Given the description of an element on the screen output the (x, y) to click on. 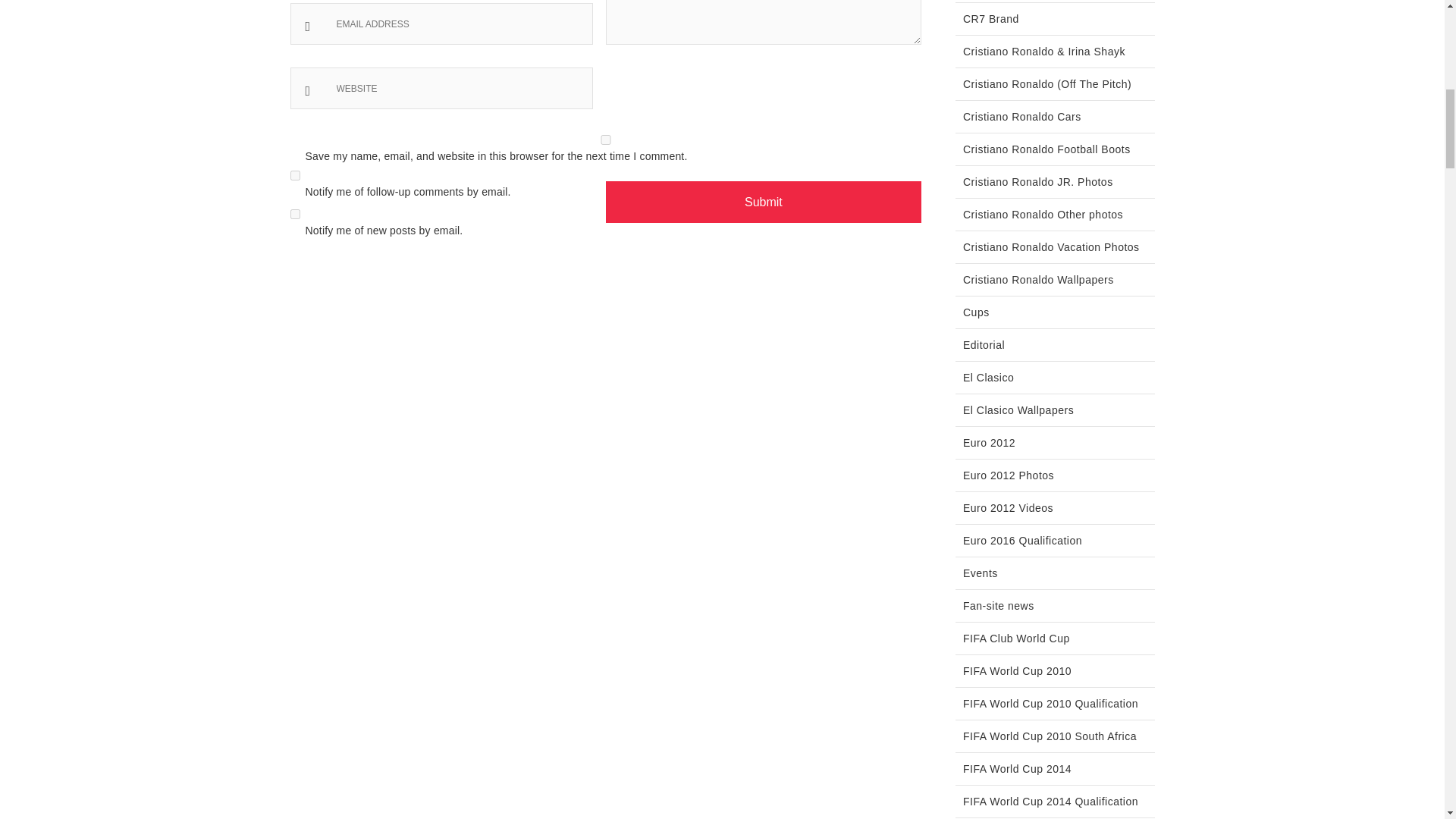
subscribe (294, 175)
Submit (763, 201)
yes (605, 139)
subscribe (294, 214)
CR7 Brand (990, 18)
Submit (763, 201)
